Given the description of an element on the screen output the (x, y) to click on. 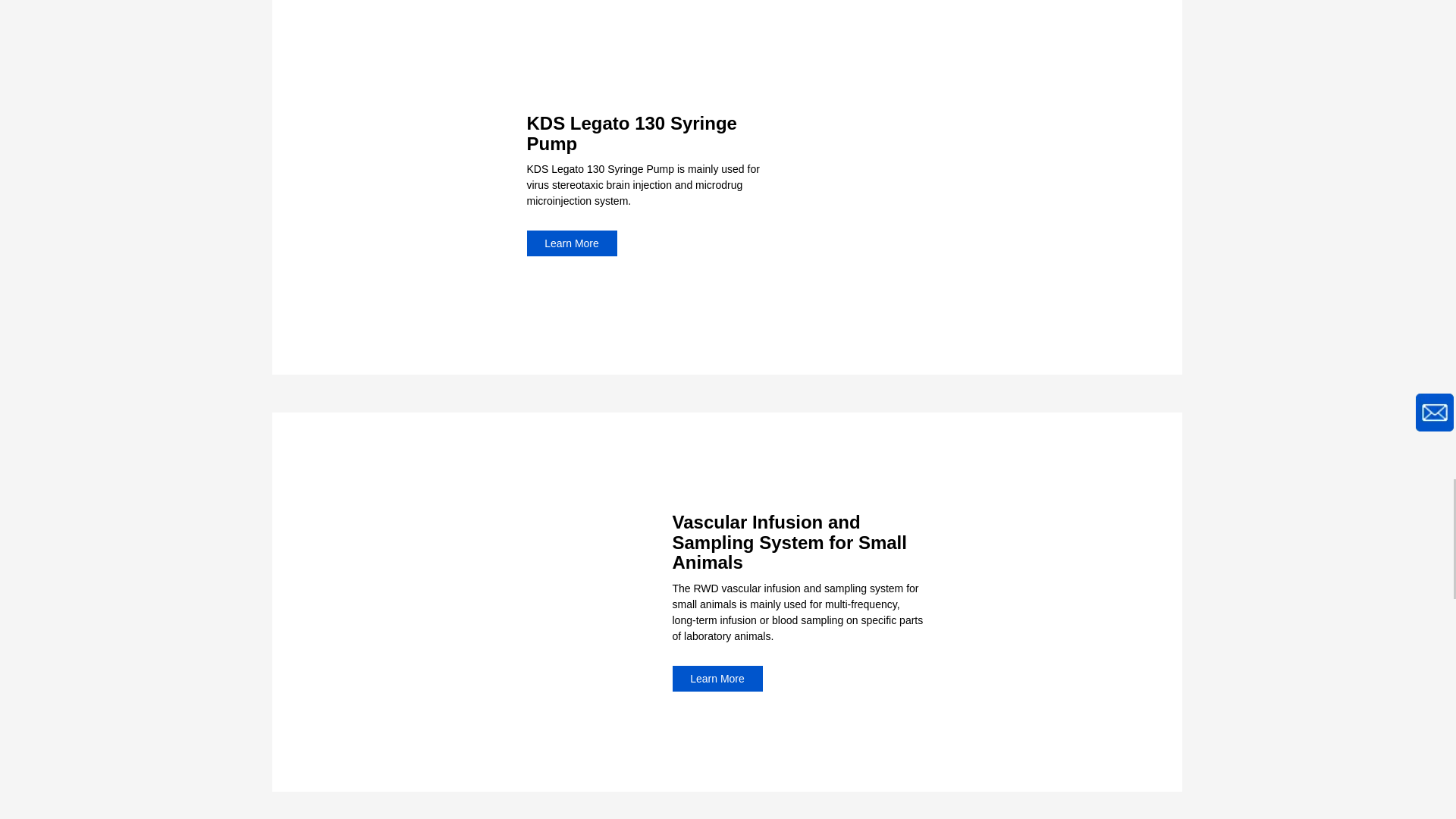
Learn More (570, 243)
Learn More (716, 678)
